Given the description of an element on the screen output the (x, y) to click on. 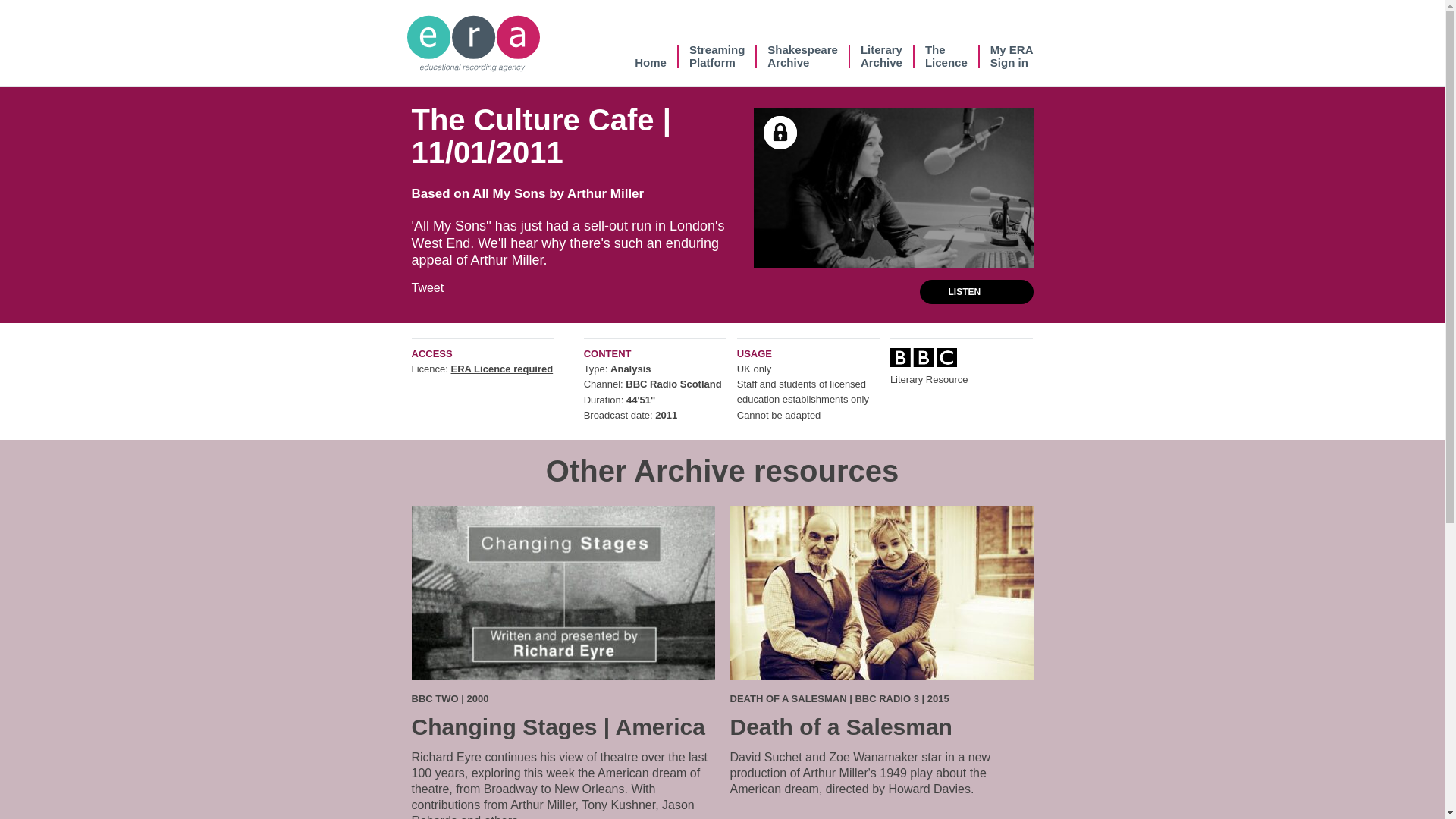
ERA Licence required (716, 56)
Tweet (801, 56)
Home (502, 368)
